Given the description of an element on the screen output the (x, y) to click on. 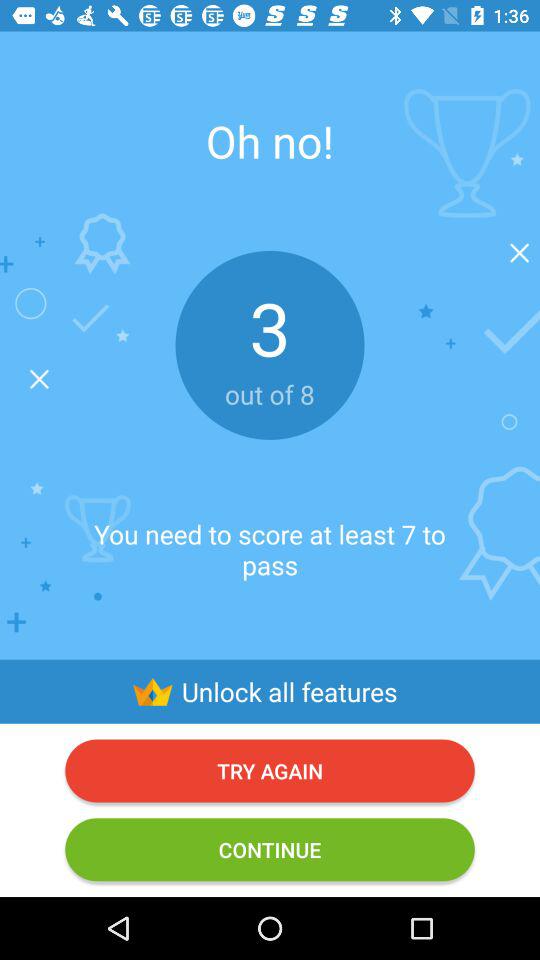
scroll until try again (269, 770)
